Given the description of an element on the screen output the (x, y) to click on. 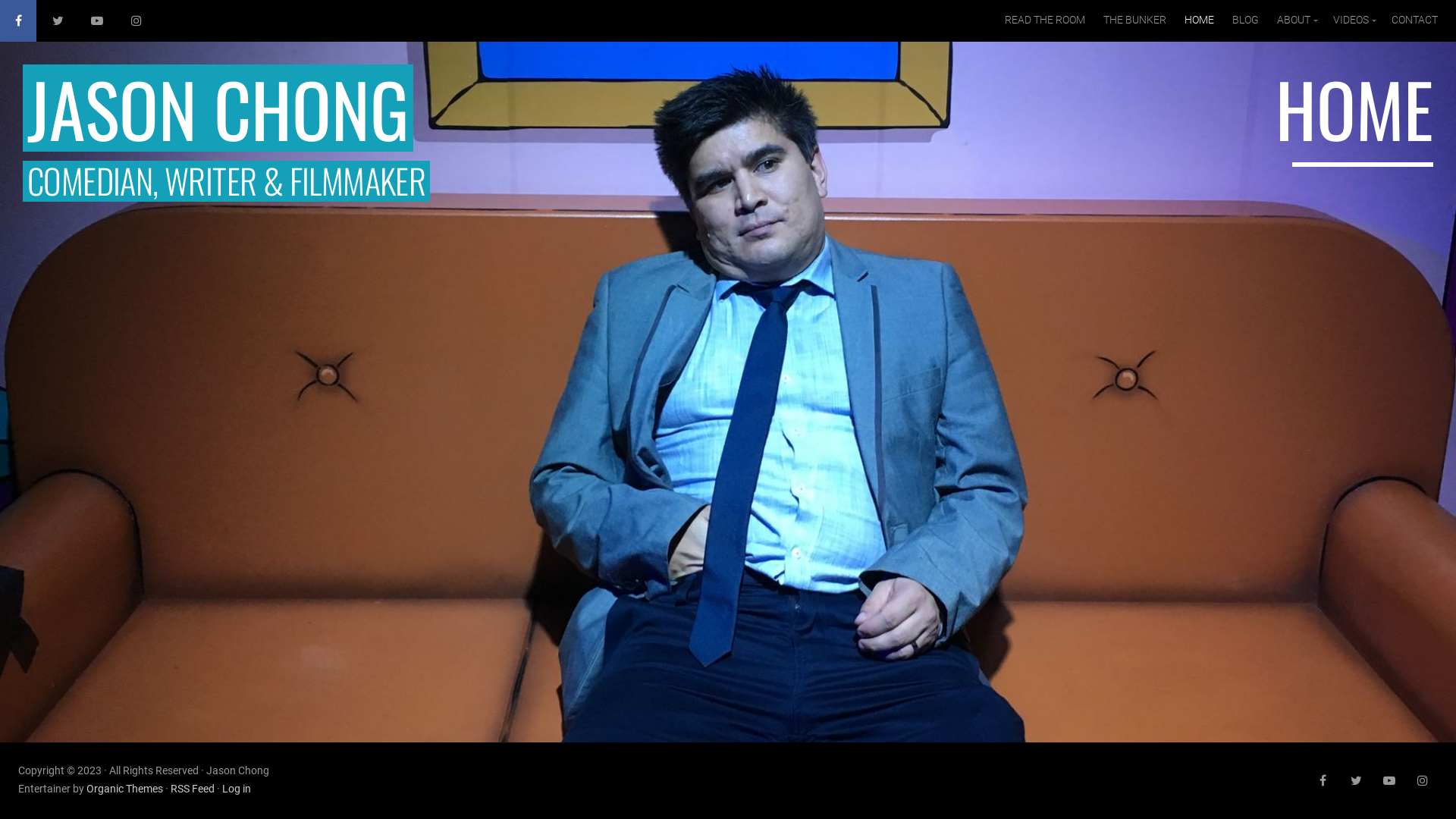
Log in Element type: text (236, 788)
THE BUNKER Element type: text (1134, 20)
CONTACT Element type: text (1414, 20)
VIDEOS Element type: text (1353, 20)
Organic Themes Element type: text (124, 788)
BLOG Element type: text (1245, 20)
HOME Element type: text (1199, 20)
ABOUT Element type: text (1295, 20)
JASON CHONG Element type: text (217, 107)
RSS Feed Element type: text (192, 788)
READ THE ROOM Element type: text (1044, 20)
